Given the description of an element on the screen output the (x, y) to click on. 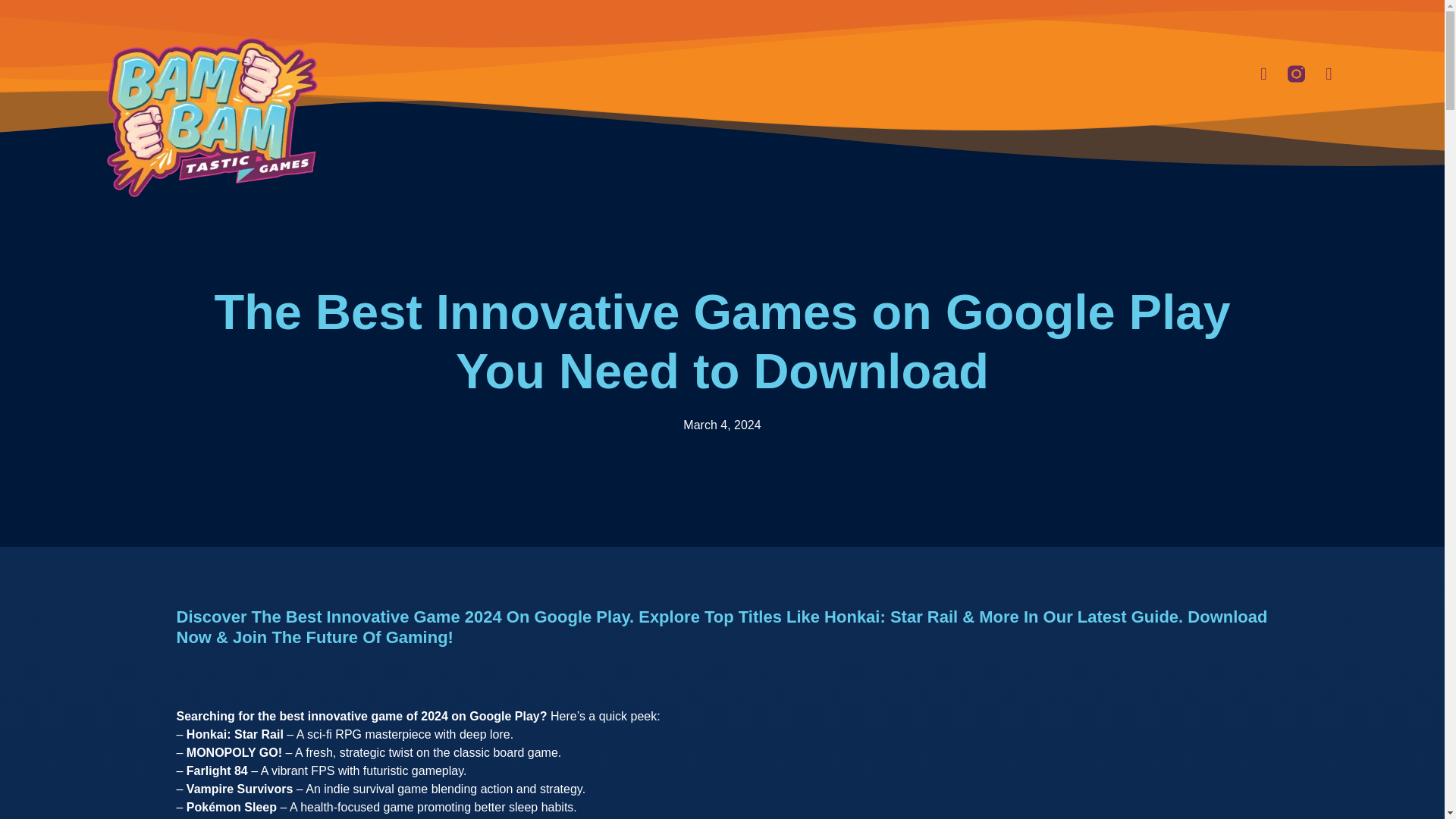
Instagram (1295, 73)
Facebook-f (1263, 73)
bambam logo small (212, 117)
